Given the description of an element on the screen output the (x, y) to click on. 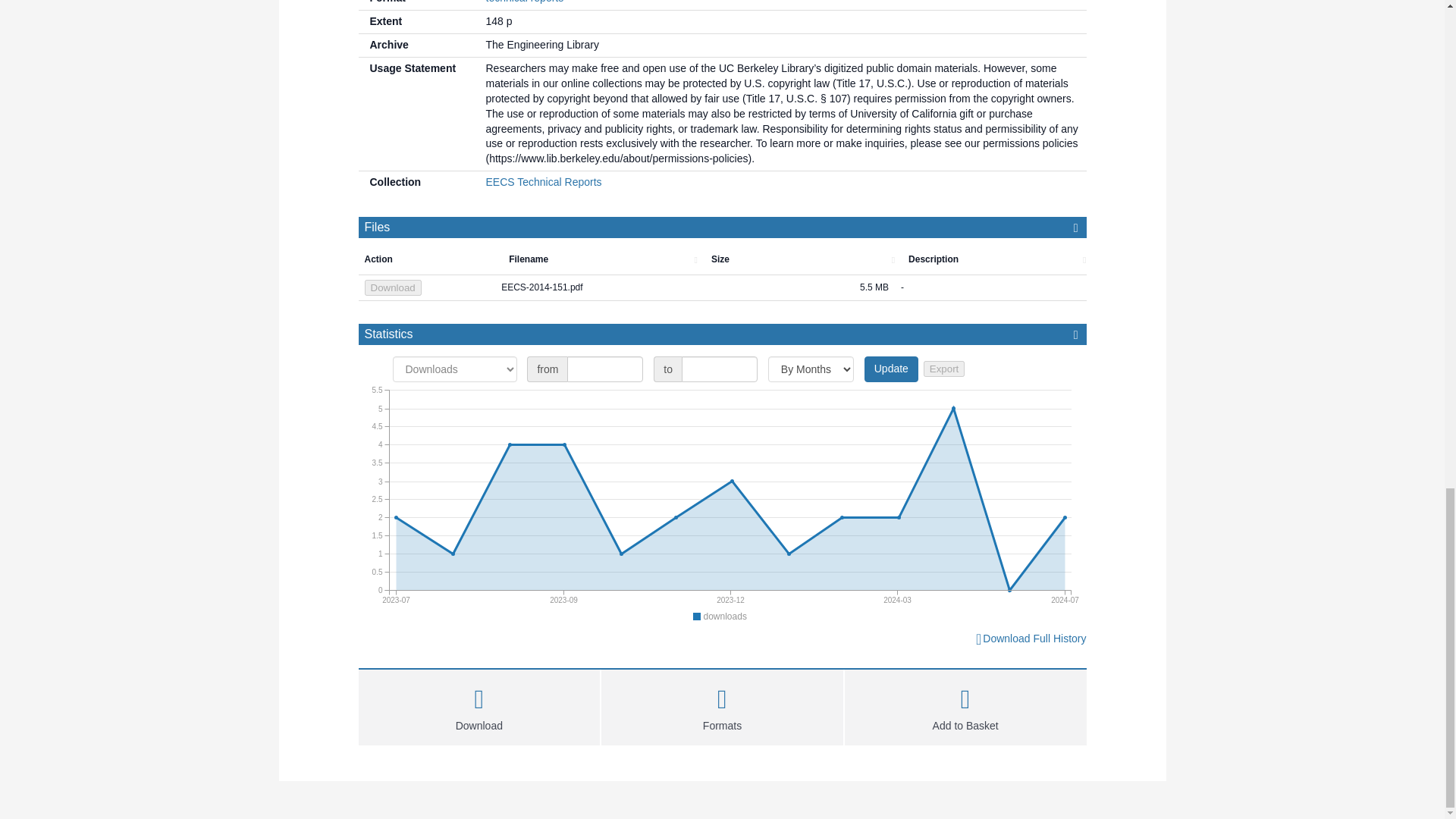
- (990, 288)
EECS-2014-151.pdf (596, 288)
Action Filename Size Description (727, 259)
Download (478, 705)
technical reports (523, 2)
5.5 MB (796, 288)
Update (891, 369)
Action Filename Size Description (722, 259)
EECS Technical Reports (542, 182)
Download Full History (1030, 639)
Download EECS-2014-151.pdf 5.5 MB - (722, 288)
Add to Basket (965, 705)
